Given the description of an element on the screen output the (x, y) to click on. 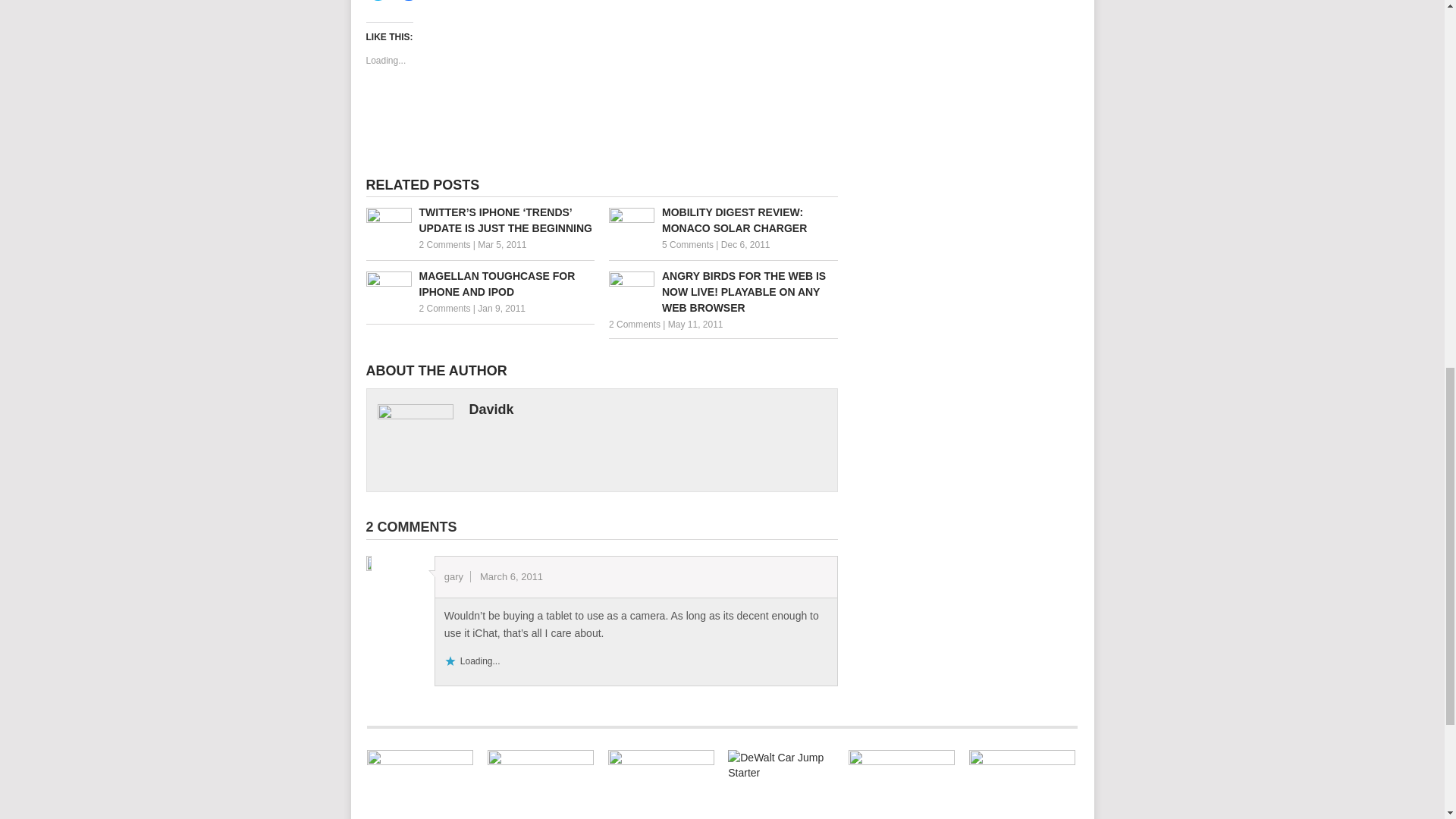
MAGELLAN TOUGHCASE FOR IPHONE AND IPOD (479, 284)
2 Comments (634, 324)
2 Comments (444, 244)
GOODBYE OLD FRIEND (419, 784)
DEWALT CAR JUMP STARTER REVIEW (781, 784)
Mobility Digest Review: Monaco Solar Charger (723, 220)
PALM PILOTS, POCKET PCS AND BOOGIE BOARDS (540, 784)
